Given the description of an element on the screen output the (x, y) to click on. 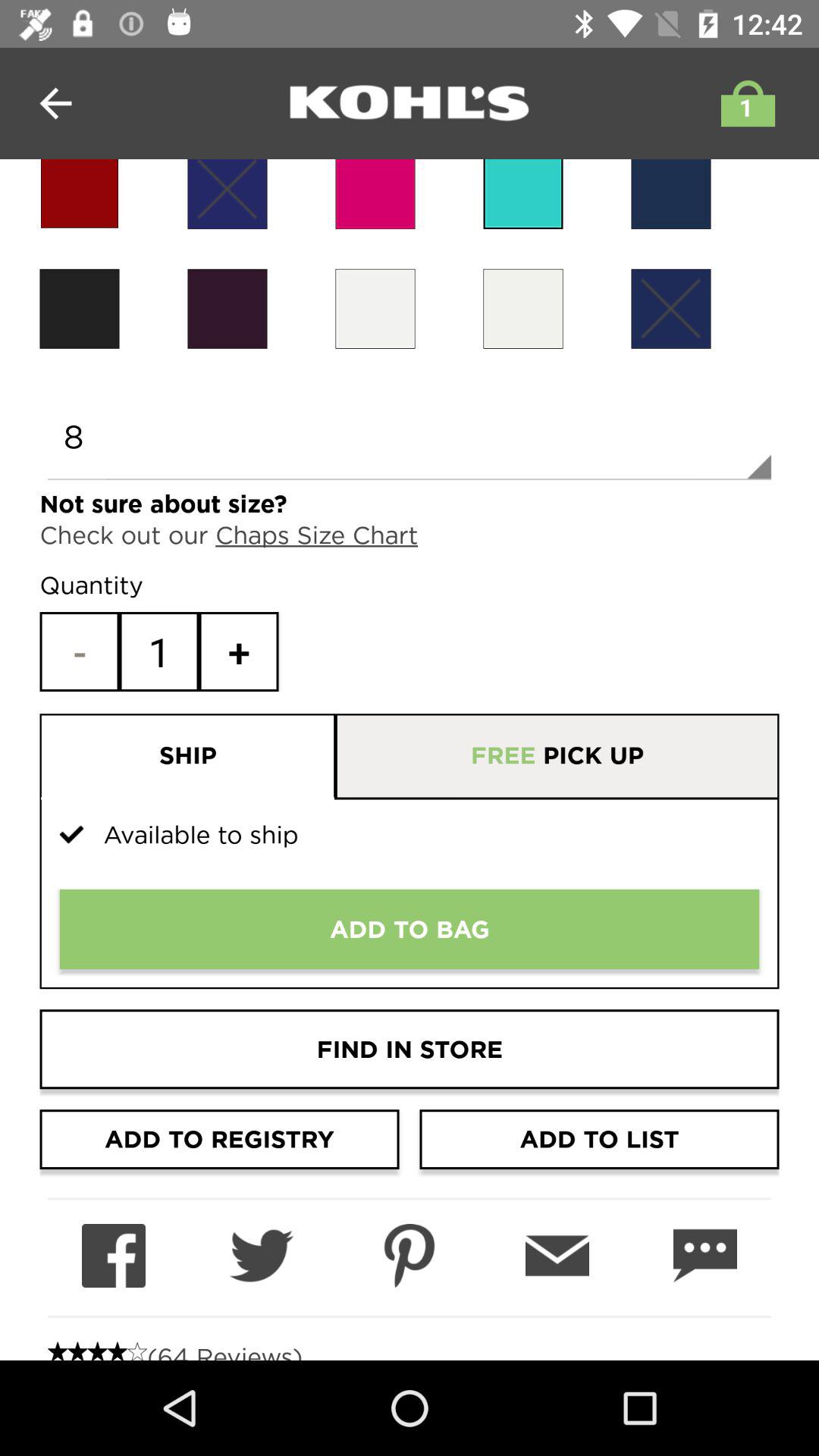
share with a text message (705, 1255)
